Given the description of an element on the screen output the (x, y) to click on. 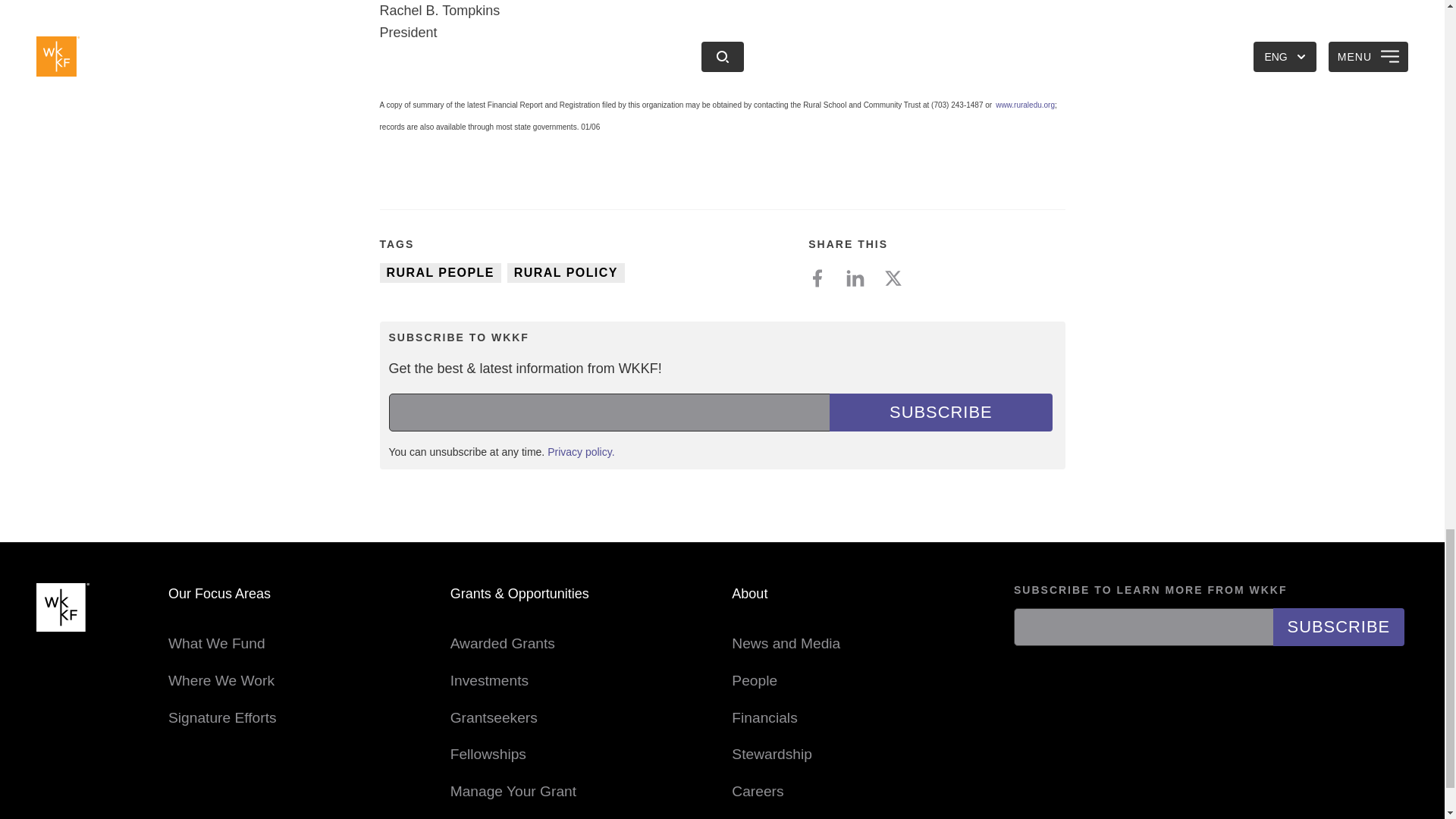
Subscribe (1338, 627)
Share on LinkedIn (860, 277)
Subscribe (940, 412)
Share on Facebook (823, 277)
